Given the description of an element on the screen output the (x, y) to click on. 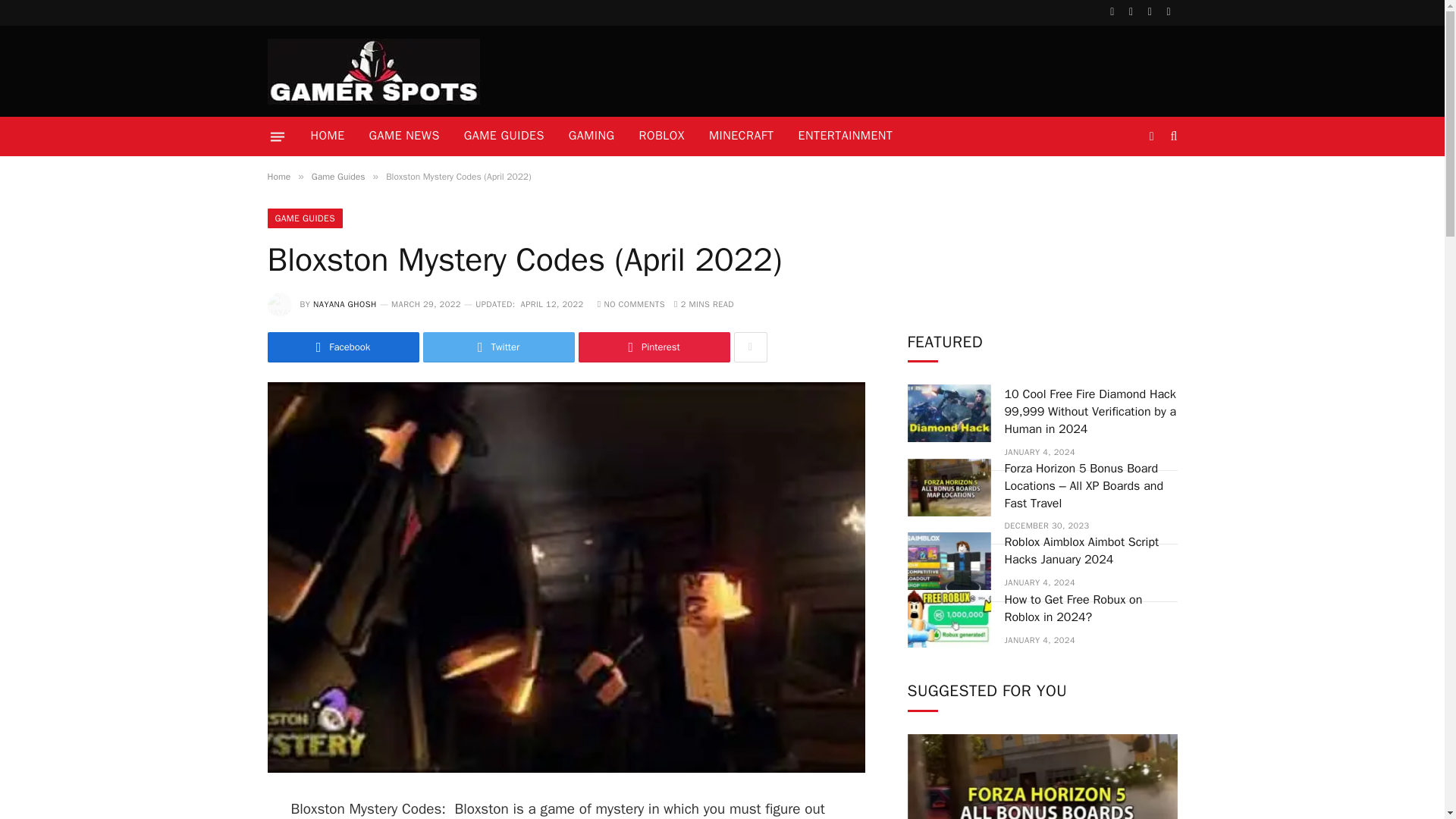
Share on Facebook (342, 347)
HOME (327, 136)
MINECRAFT (741, 136)
GAME GUIDES (503, 136)
NAYANA GHOSH (345, 303)
NO COMMENTS (630, 303)
Home (277, 176)
ENTERTAINMENT (845, 136)
GAMING (591, 136)
Switch to Dark Design - easier on eyes. (1151, 136)
Share on Pinterest (653, 347)
Twitter (499, 347)
ROBLOX (662, 136)
Posts by Nayana Ghosh (345, 303)
Game Guides (338, 176)
